Given the description of an element on the screen output the (x, y) to click on. 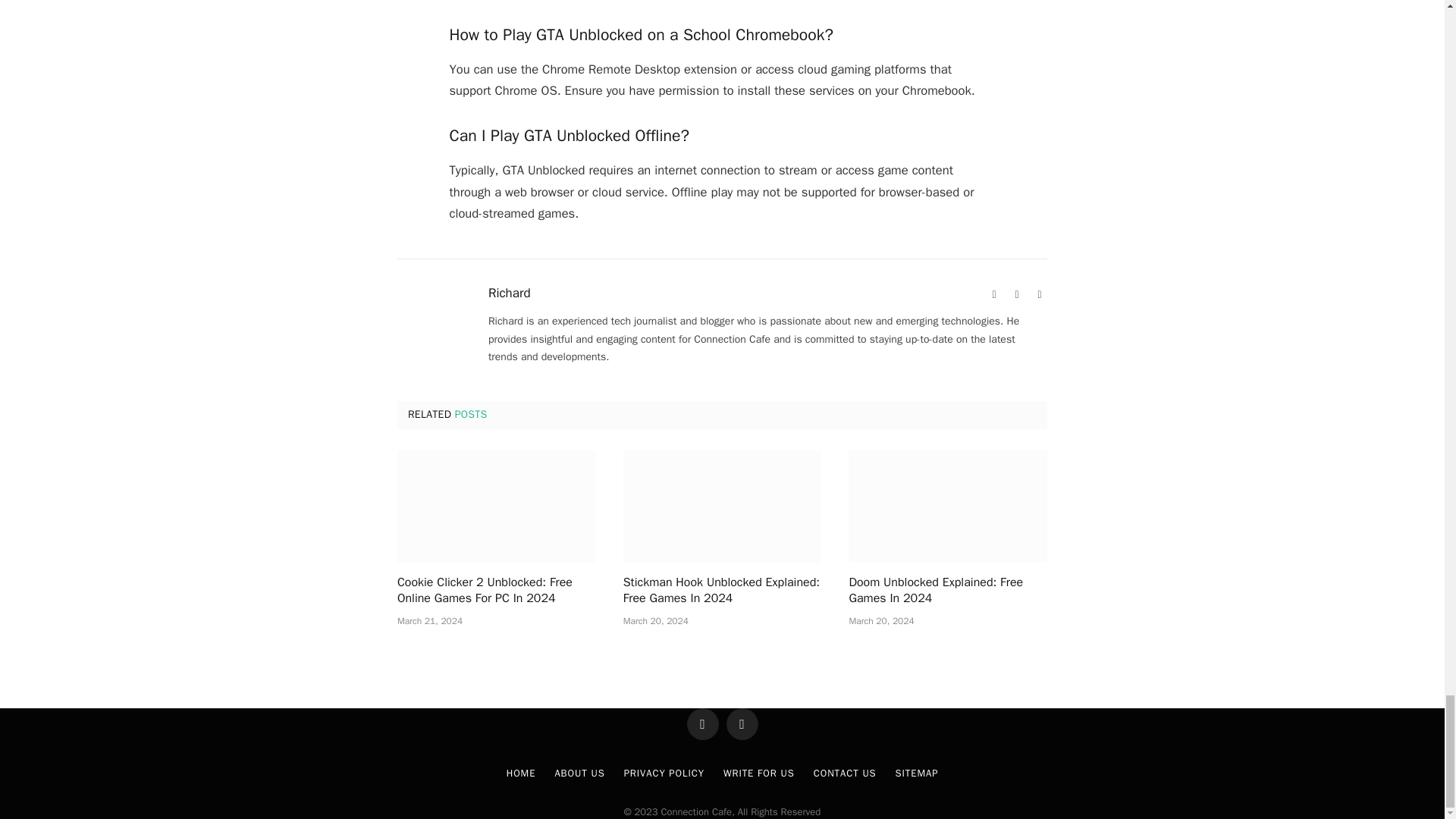
Cookie Clicker 2 Unblocked: Free Online Games For PC In 2024 (496, 505)
Twitter (1039, 294)
Stickman Hook Unblocked Explained: Free Games In 2024 (722, 505)
Website (994, 294)
Doom Unblocked Explained: Free Games In 2024 (947, 505)
Facebook (1017, 294)
Posts by Richard (509, 293)
